Given the description of an element on the screen output the (x, y) to click on. 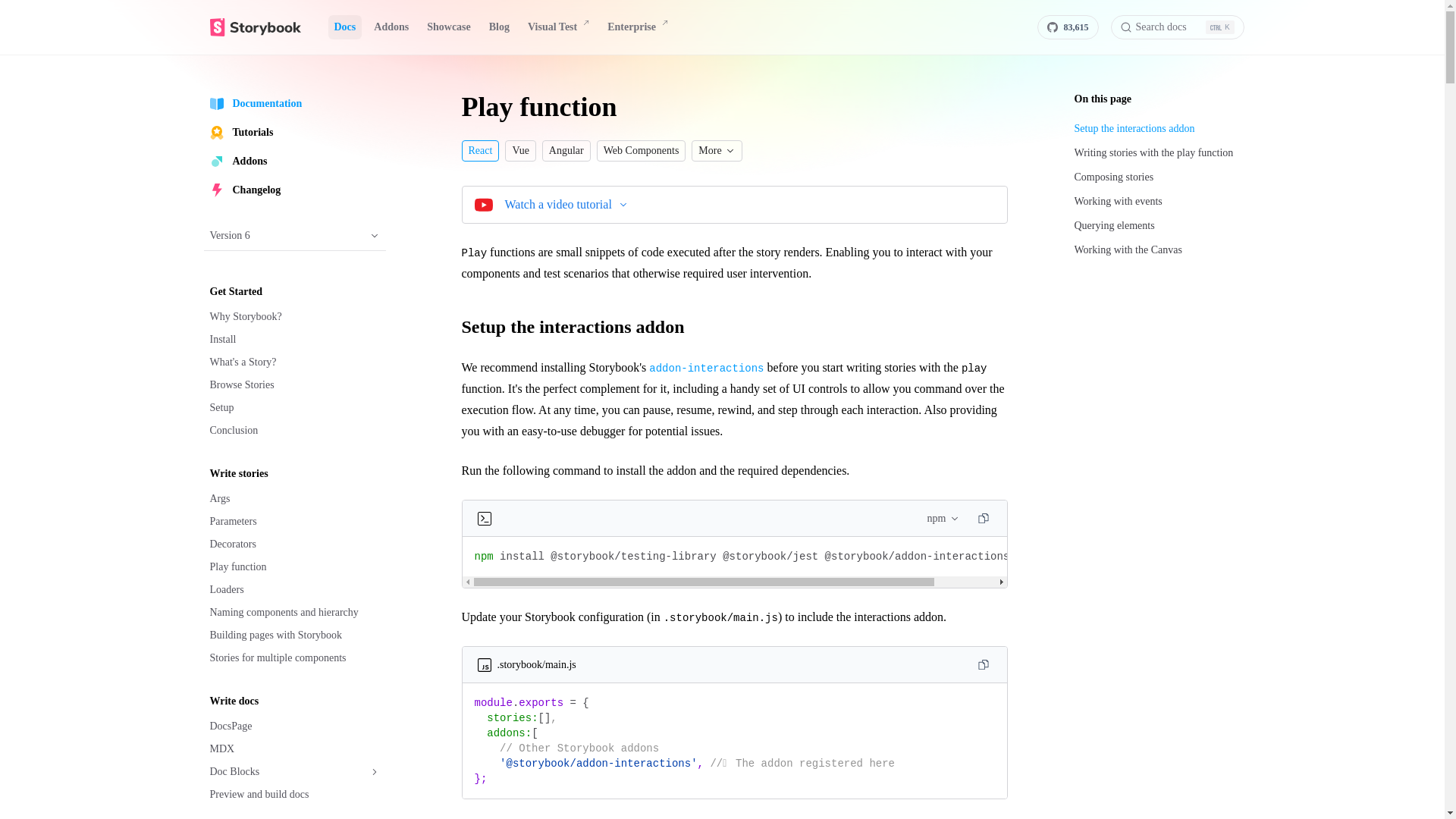
Parameters (294, 521)
Visual Test (558, 27)
83,615 (1067, 27)
Preview and build docs (294, 793)
Install (294, 339)
Setup (294, 407)
Stories for multiple components (294, 658)
Docs (344, 27)
Documentation (294, 103)
Enterprise (637, 27)
Building pages with Storybook (294, 635)
Naming components and hierarchy (294, 612)
Changelog (294, 190)
Blog (499, 27)
Showcase (448, 27)
